Given the description of an element on the screen output the (x, y) to click on. 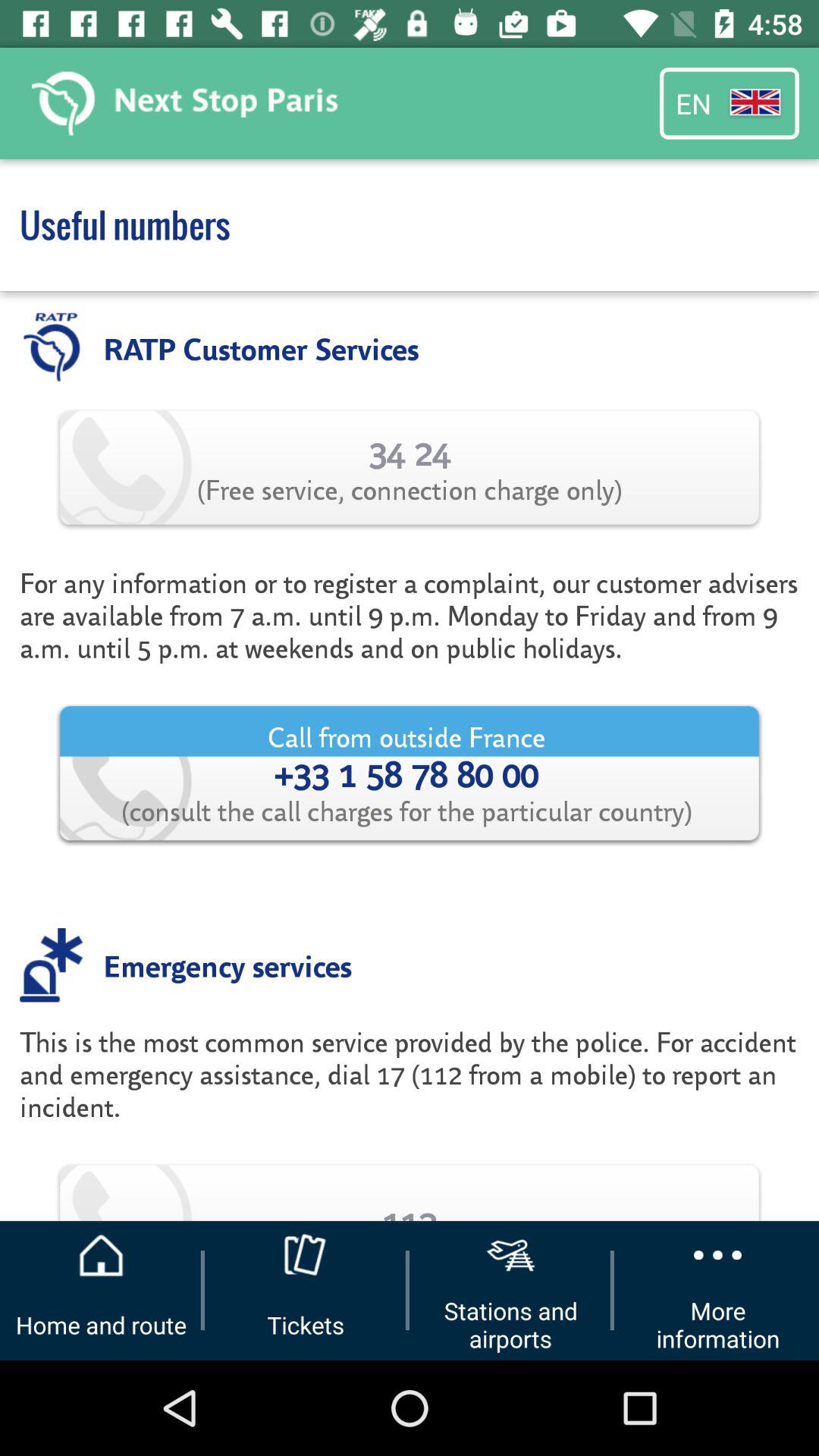
click icon above the for any information app (409, 467)
